Given the description of an element on the screen output the (x, y) to click on. 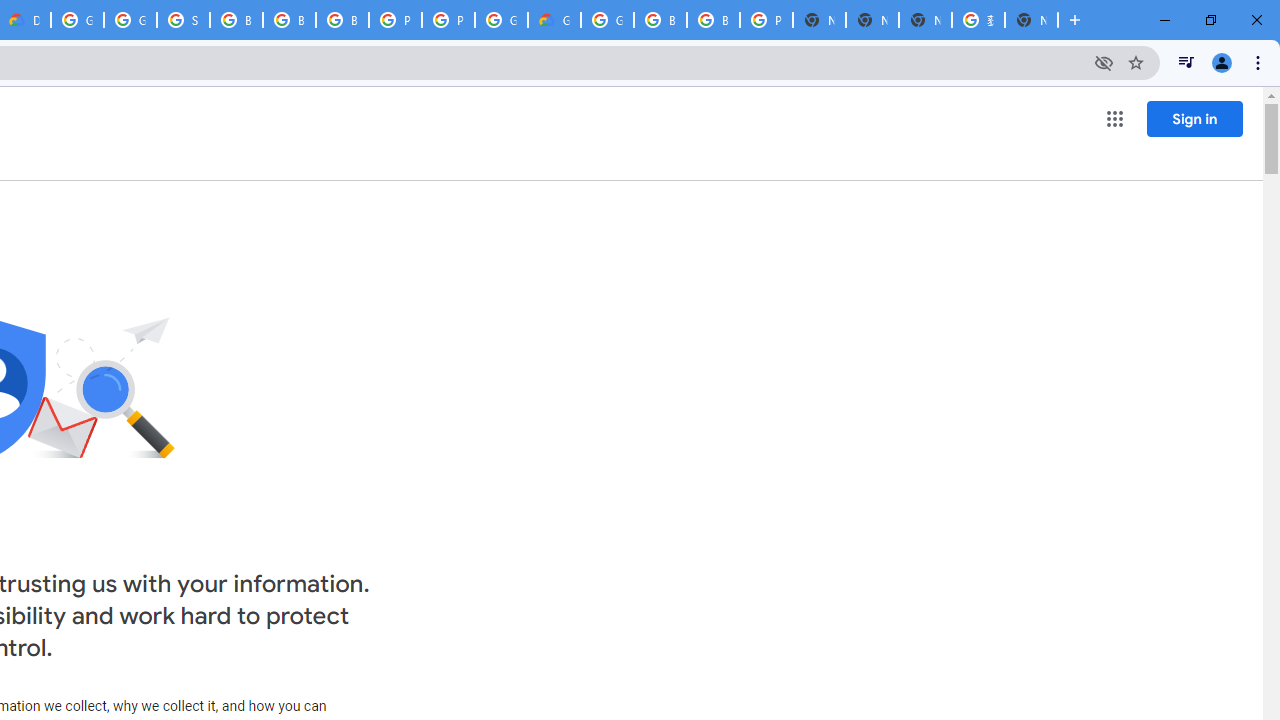
Google Cloud Estimate Summary (554, 20)
Google Cloud Platform (607, 20)
New Tab (1031, 20)
Google Cloud Platform (501, 20)
